Given the description of an element on the screen output the (x, y) to click on. 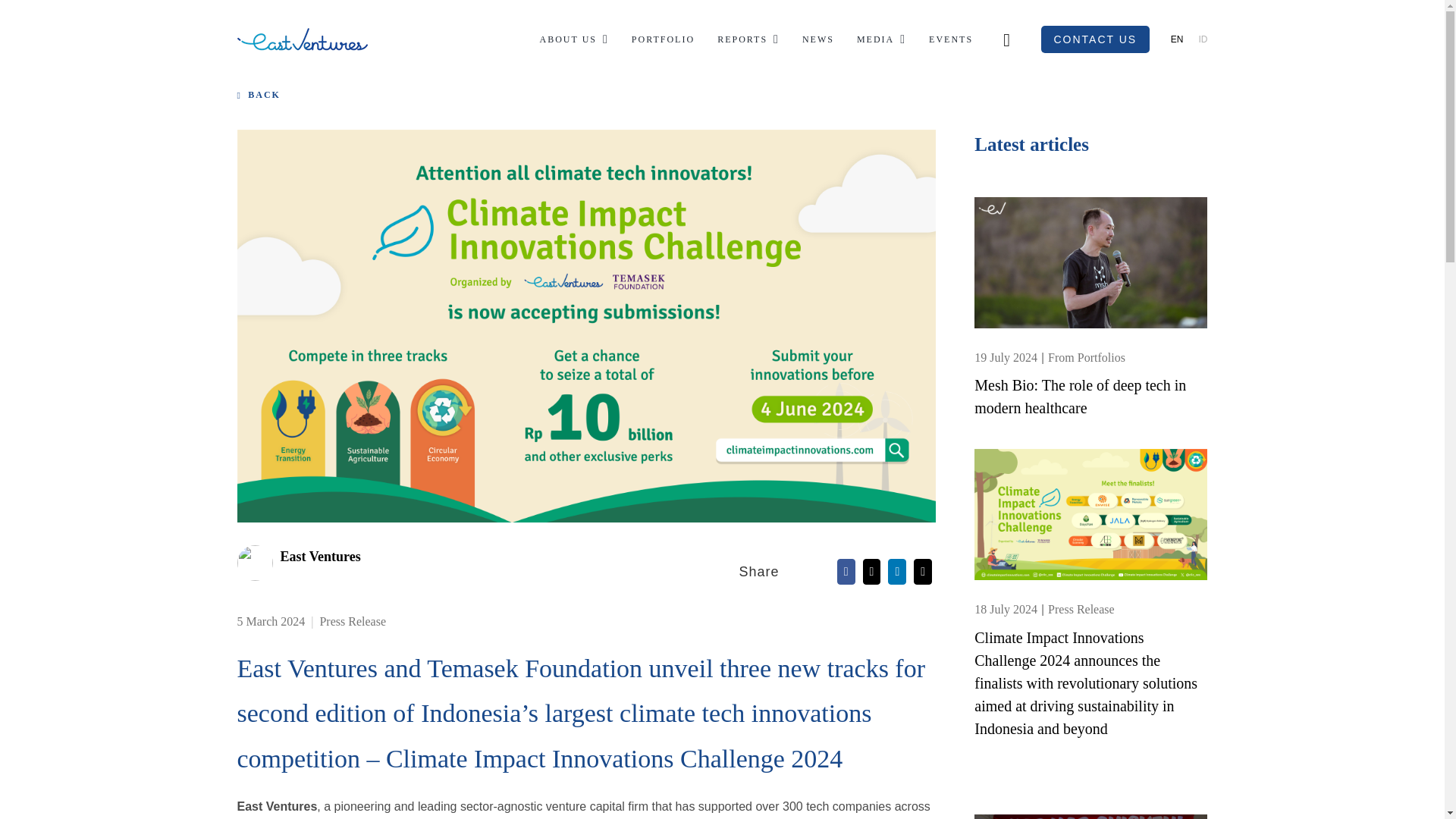
CONTACT US (1095, 39)
EVENTS (950, 39)
ABOUT US (574, 39)
REPORTS (747, 39)
PORTFOLIO (662, 39)
BACK (268, 94)
MEDIA (881, 39)
Contact Us (1095, 39)
EN (1176, 38)
NEWS (818, 39)
